Given the description of an element on the screen output the (x, y) to click on. 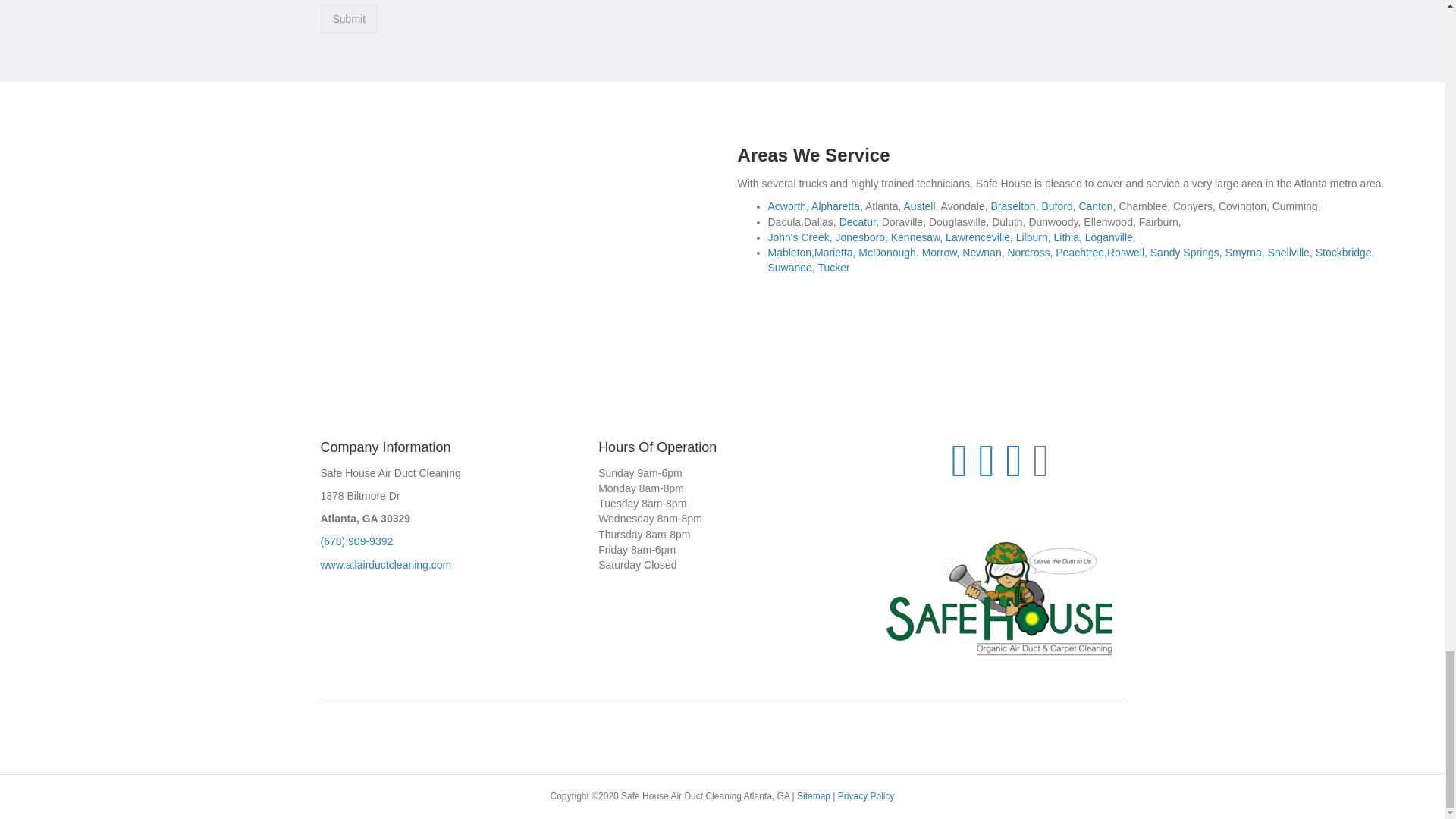
Decatur (858, 222)
Submit (348, 19)
Alpharetta (835, 205)
Canton (1095, 205)
Acworth, (787, 205)
Lawrenceville, (978, 236)
Austell (920, 205)
Buford (1056, 205)
Braselton (1011, 205)
John's Creek (797, 236)
